Given the description of an element on the screen output the (x, y) to click on. 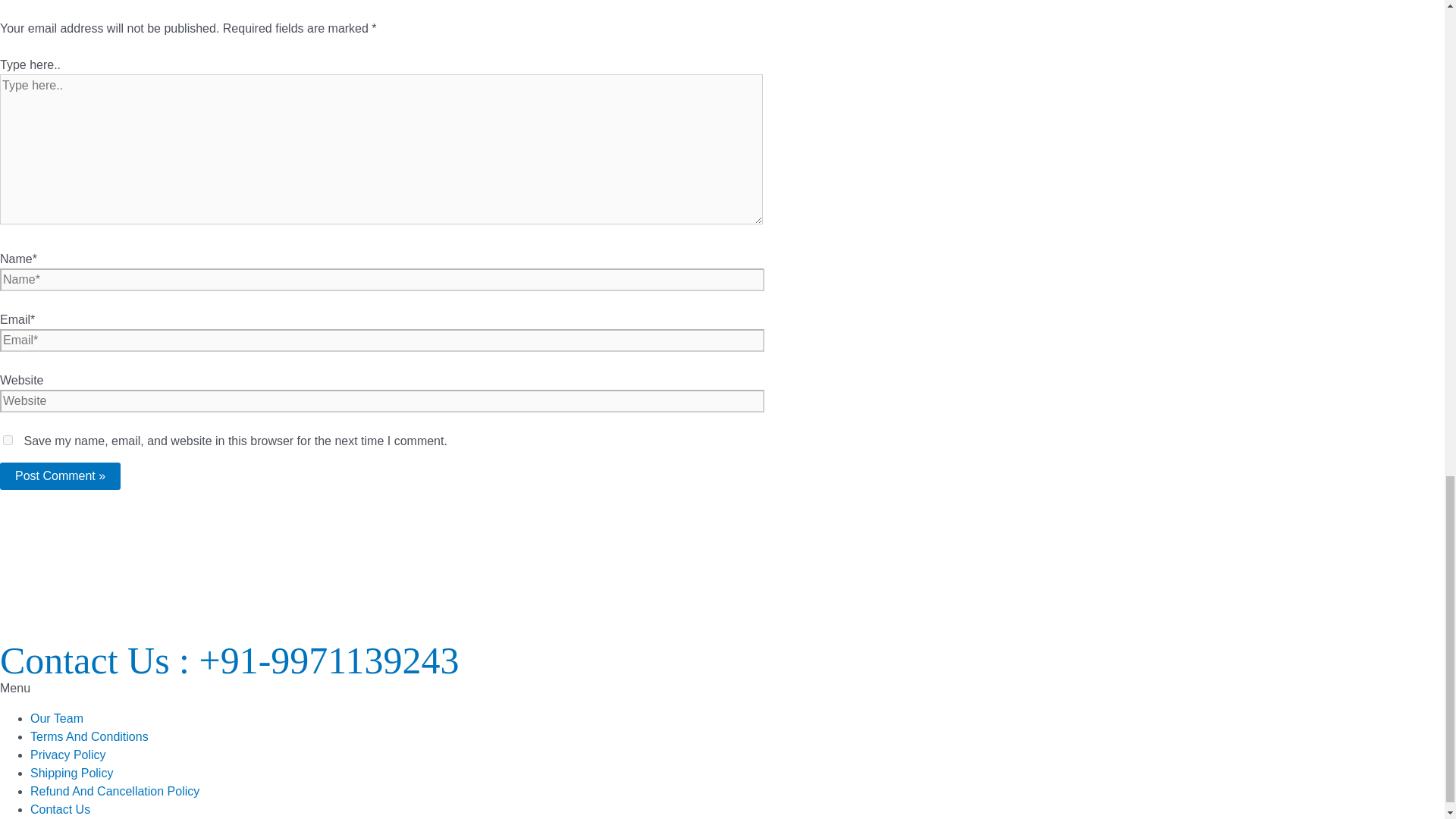
Terms And Conditions (89, 736)
Our Team (56, 717)
Shipping Policy (71, 772)
Contact Us (60, 809)
Privacy Policy (68, 754)
Refund And Cancellation Policy (114, 790)
yes (7, 439)
